Given the description of an element on the screen output the (x, y) to click on. 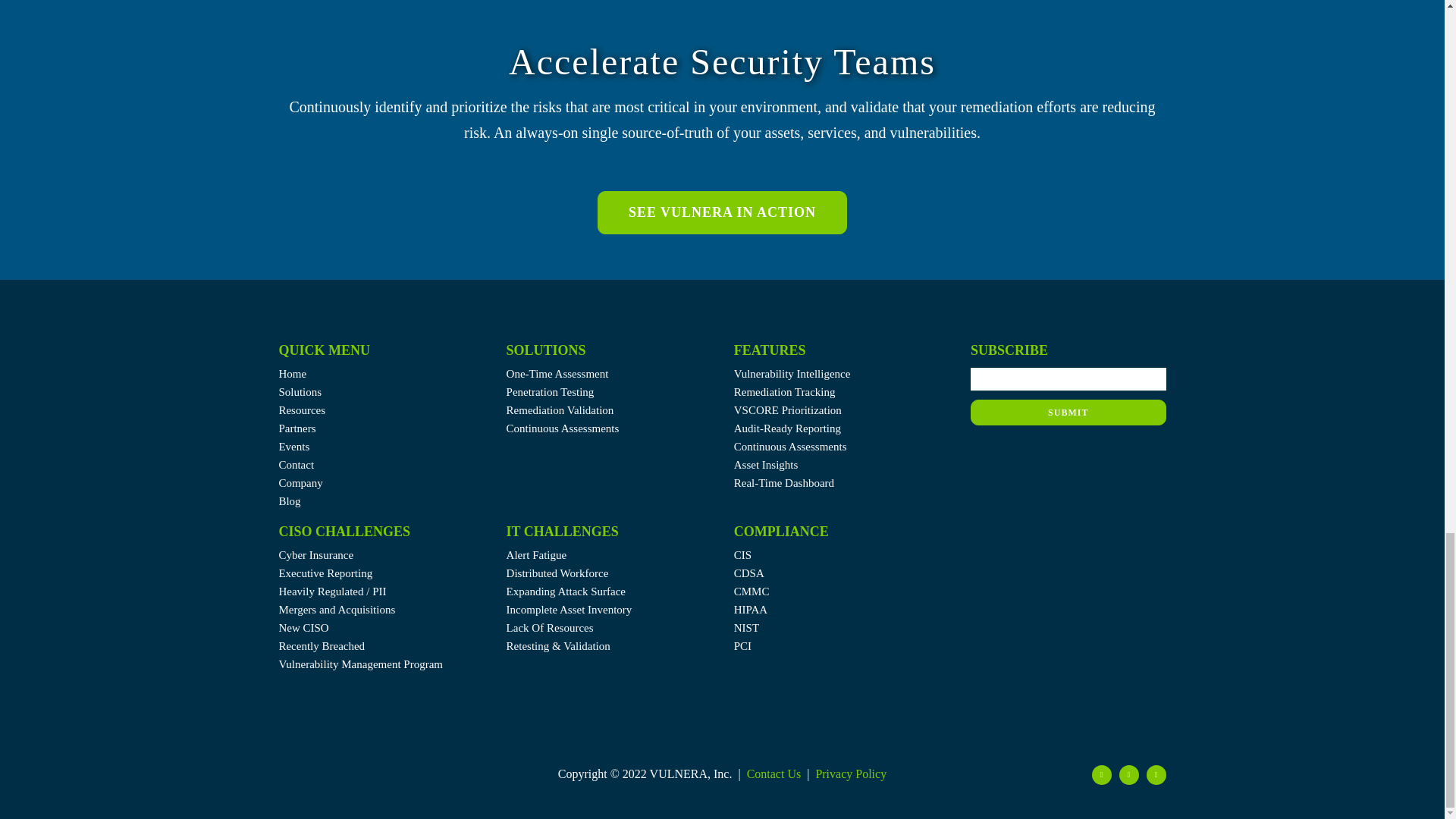
SUBMIT (1068, 398)
LinkedIn (1128, 774)
YouTube (1156, 774)
Twitter (1102, 774)
